Given the description of an element on the screen output the (x, y) to click on. 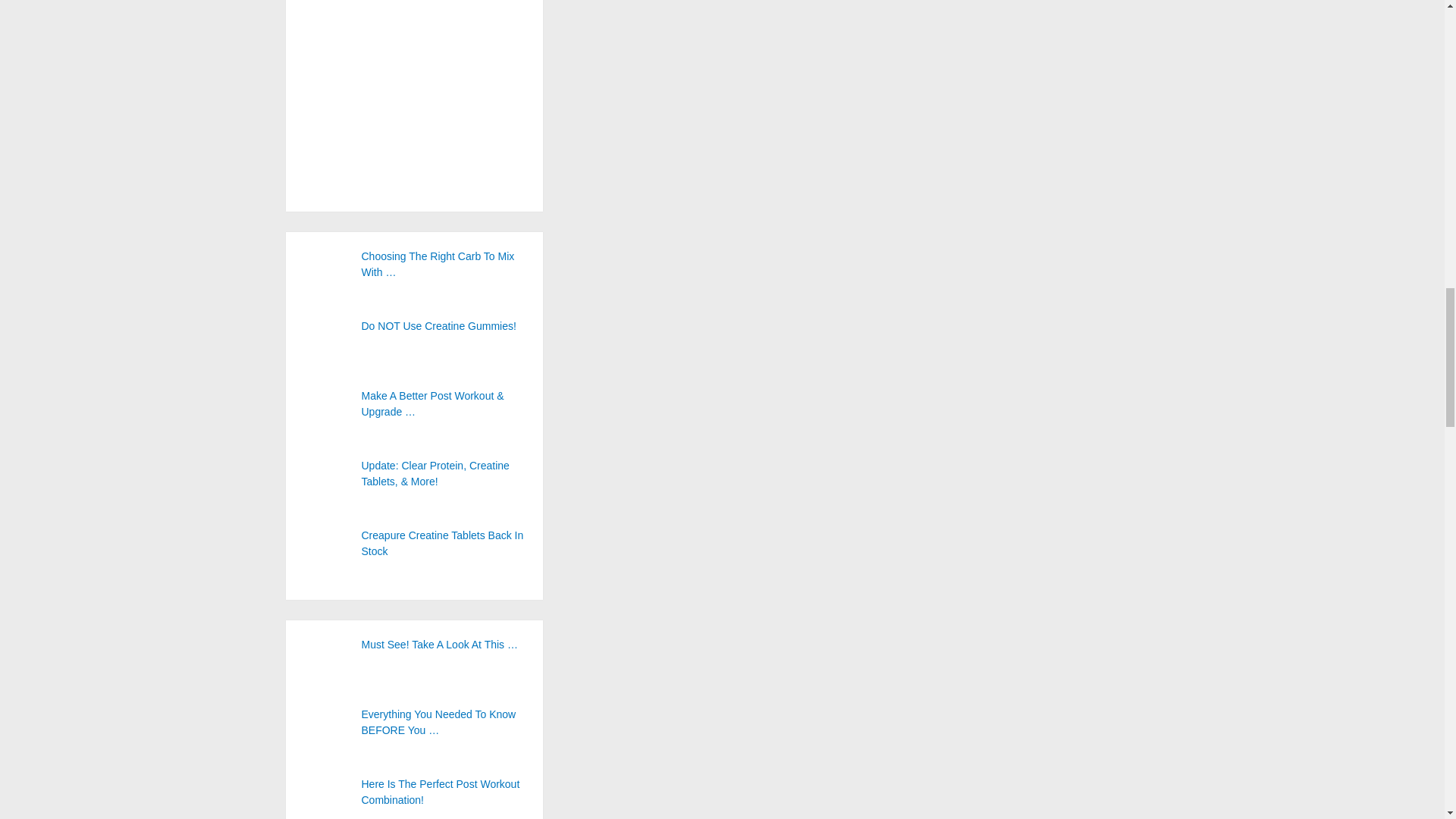
Creapure Creatine Tablets Back In Stock (326, 554)
Do NOT Use Creatine Gummies! (326, 344)
Choosing The Right Carb To Mix With Creatine (326, 275)
Creapure Creatine Tablets Back In Stock (413, 543)
Do NOT Use Creatine Gummies! (413, 326)
Choosing The Right Carb To Mix With Creatine (413, 264)
